Given the description of an element on the screen output the (x, y) to click on. 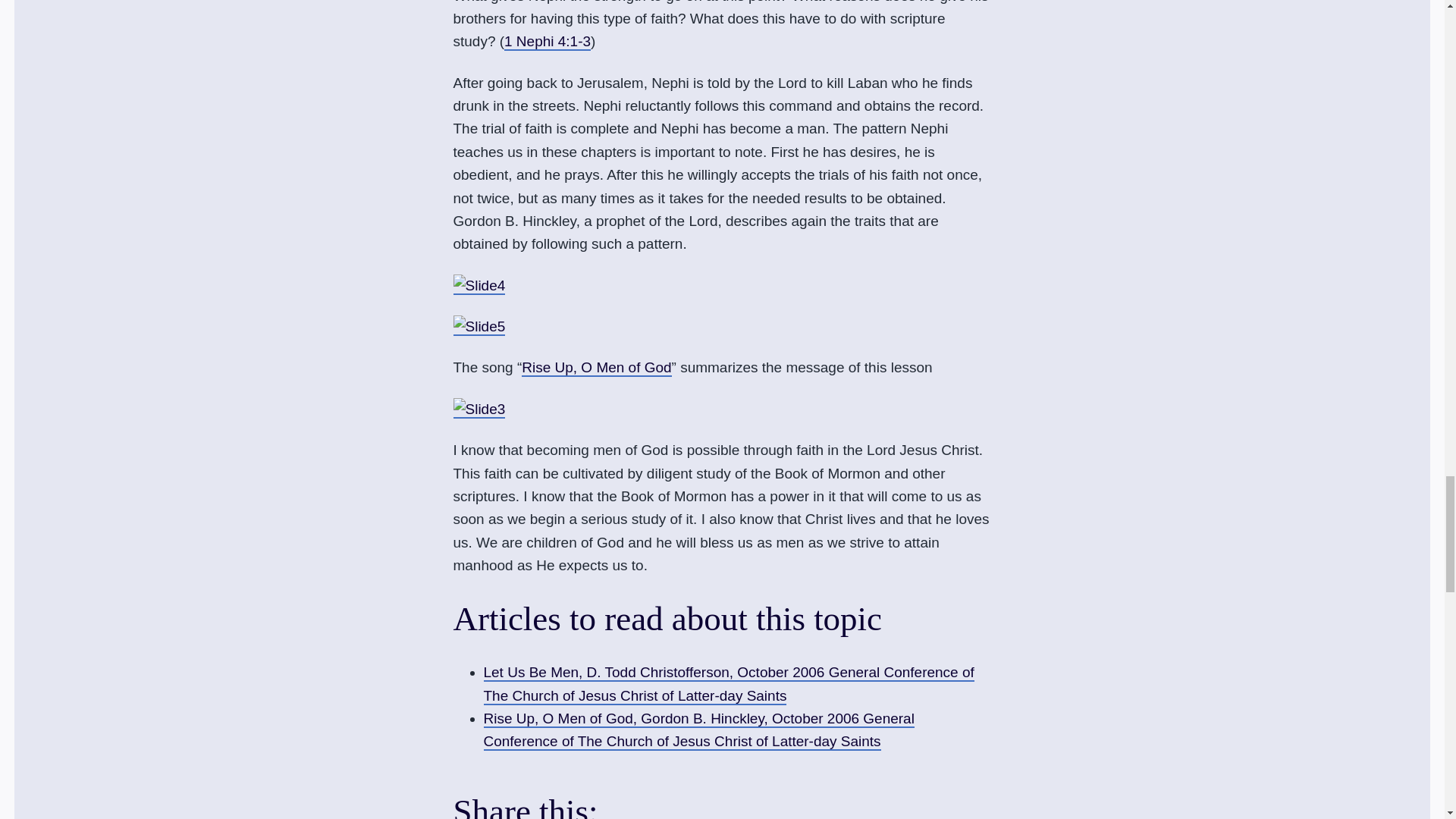
Slide5 (478, 326)
Slide4 (478, 285)
Slide3 (478, 409)
1 Nephi 4:1-3 (547, 41)
